Given the description of an element on the screen output the (x, y) to click on. 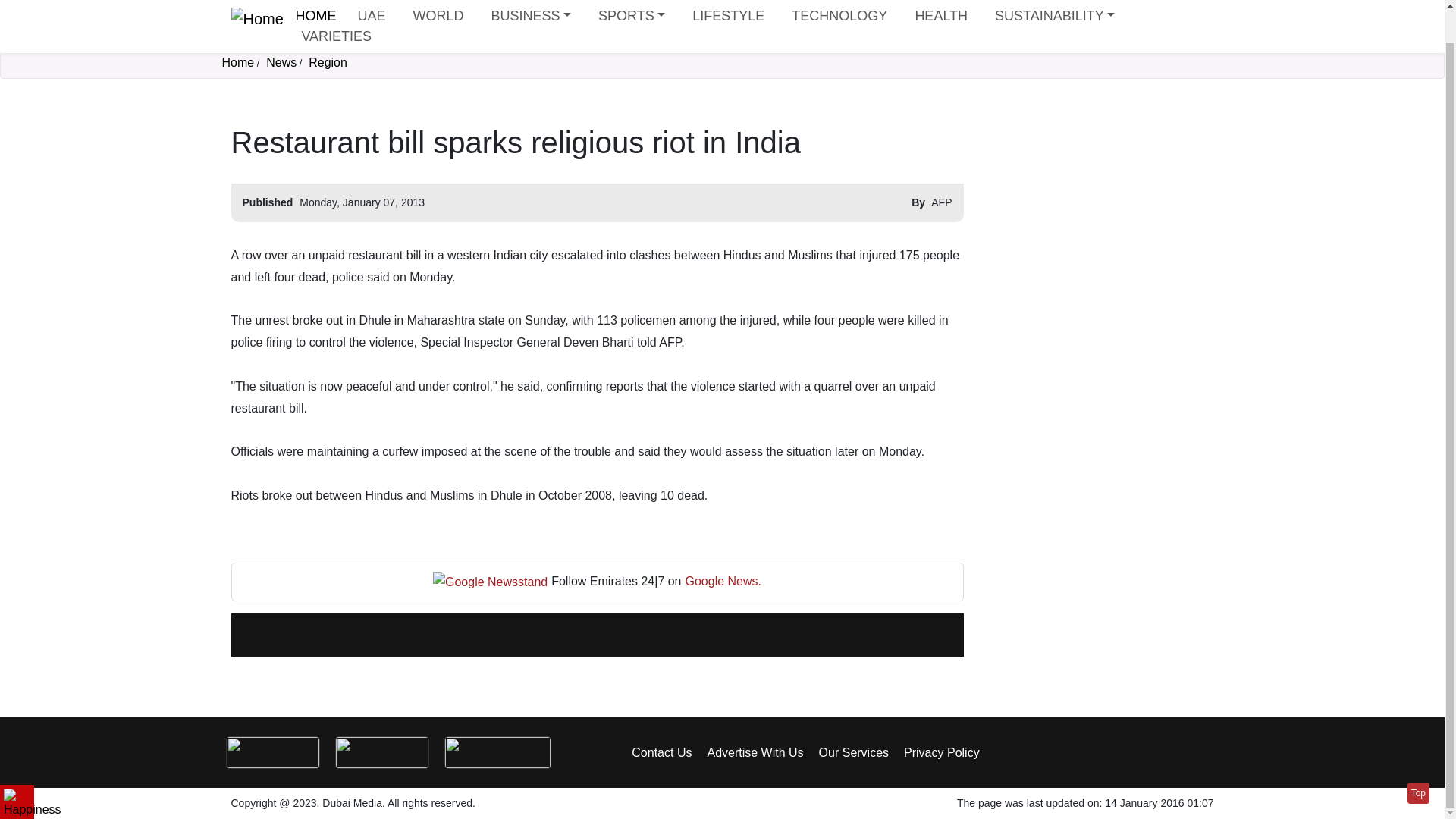
HEALTH (941, 10)
Home (237, 62)
Google News. (723, 581)
SPORTS (631, 10)
BUSINESS (530, 10)
WORLD (437, 10)
HOME (315, 9)
Home (315, 9)
TECHNOLOGY (839, 10)
Region (327, 62)
News (281, 62)
SUSTAINABILITY (1054, 10)
Home (256, 20)
VARIETIES (336, 30)
UAE (370, 10)
